Given the description of an element on the screen output the (x, y) to click on. 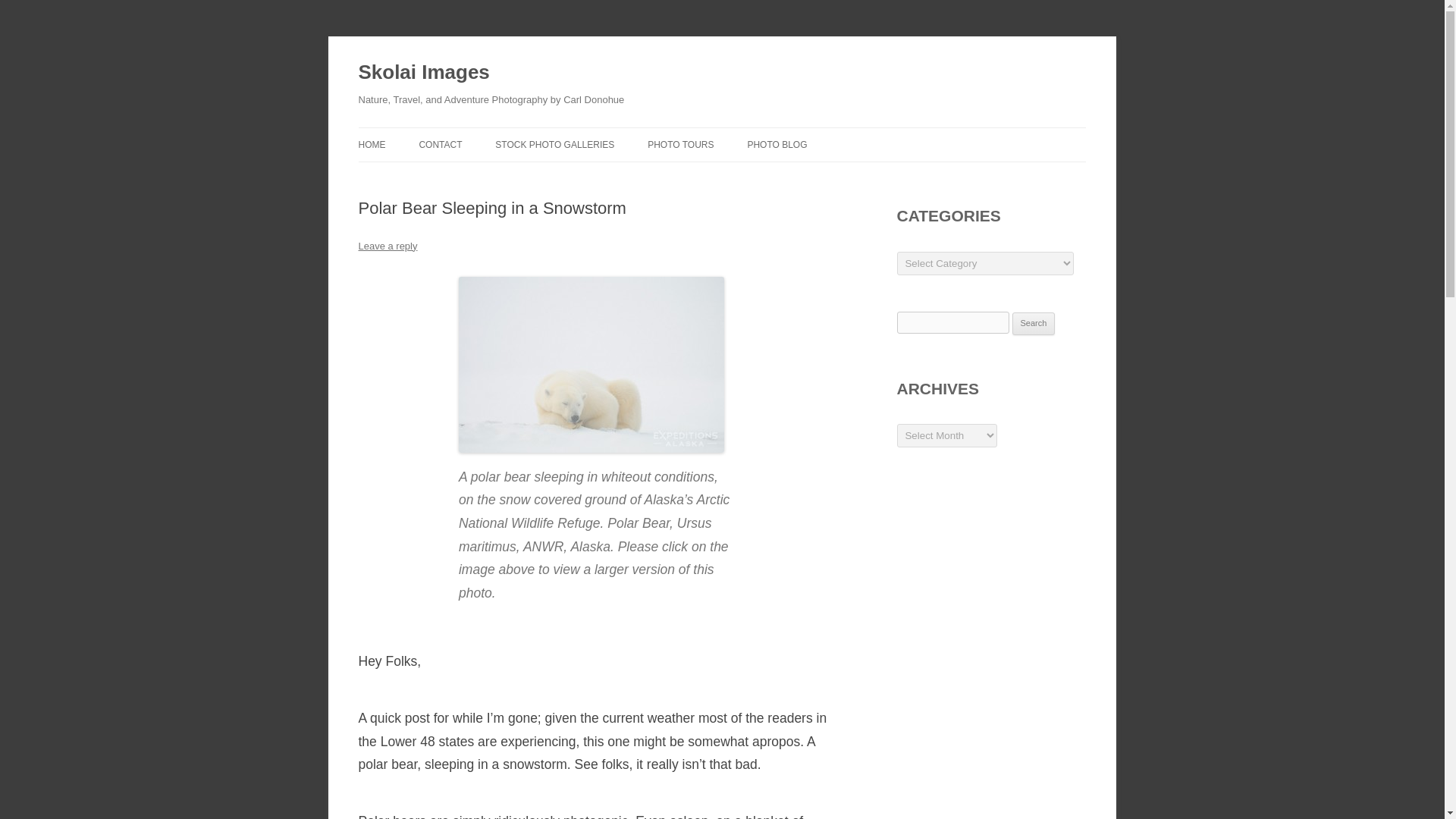
Polar bear sleeping in a whiteout, in Arctic Alaska. (590, 449)
Alaska Photo Tours (680, 144)
PHOTO BLOG (776, 144)
ALASKA PHOTOS (570, 176)
STOCK PHOTO GALLERIES (554, 144)
Skolai Images (423, 72)
Polar bear sleeping in a whiteout, in Arctic Alaska. (590, 364)
CONTACT (440, 144)
PHOTO TOURS (680, 144)
Journal (776, 144)
Search (1033, 323)
Search (1033, 323)
Leave a reply (387, 245)
BIO (494, 176)
